Given the description of an element on the screen output the (x, y) to click on. 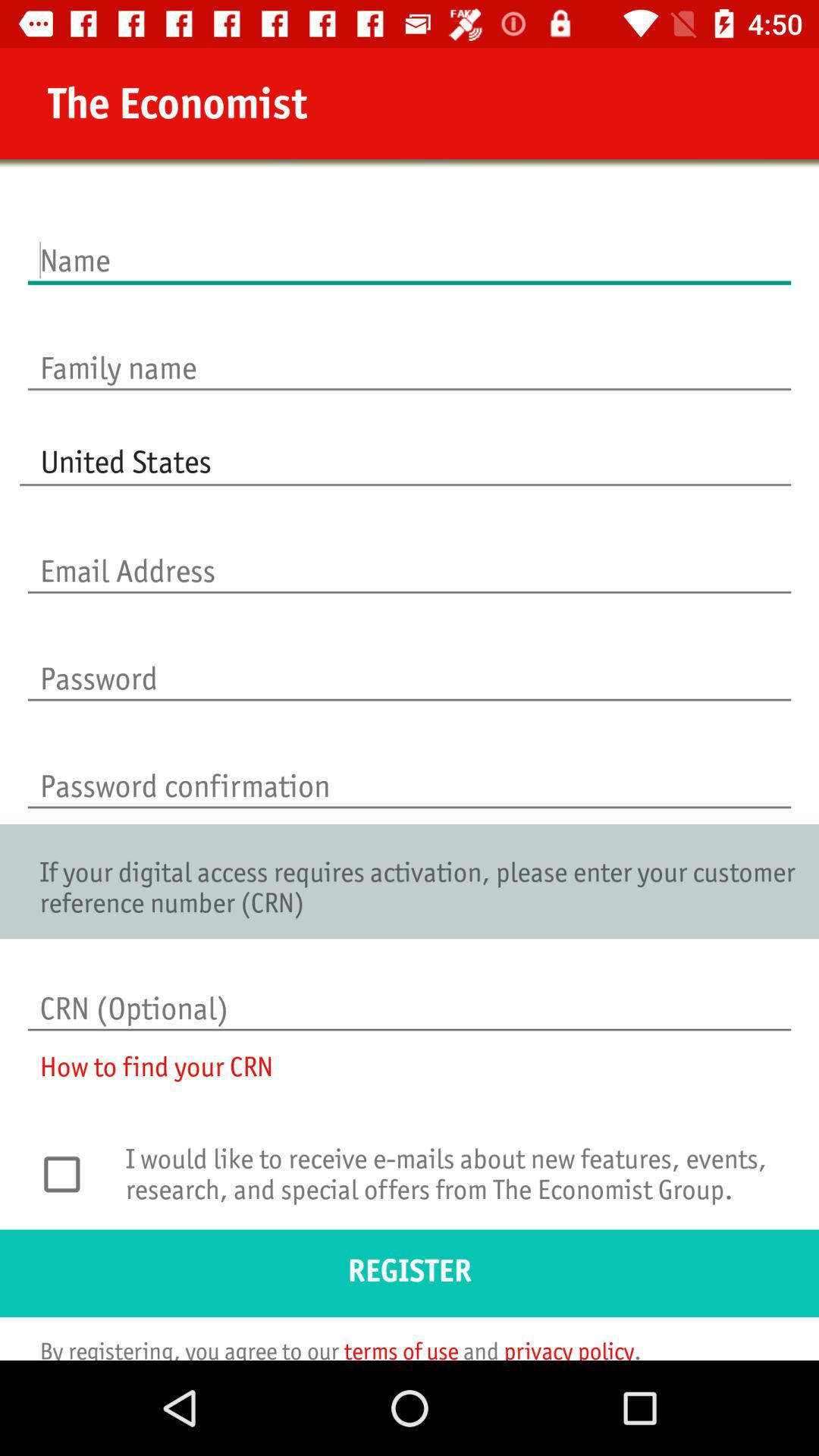
open the icon to the left of i would like icon (69, 1174)
